Given the description of an element on the screen output the (x, y) to click on. 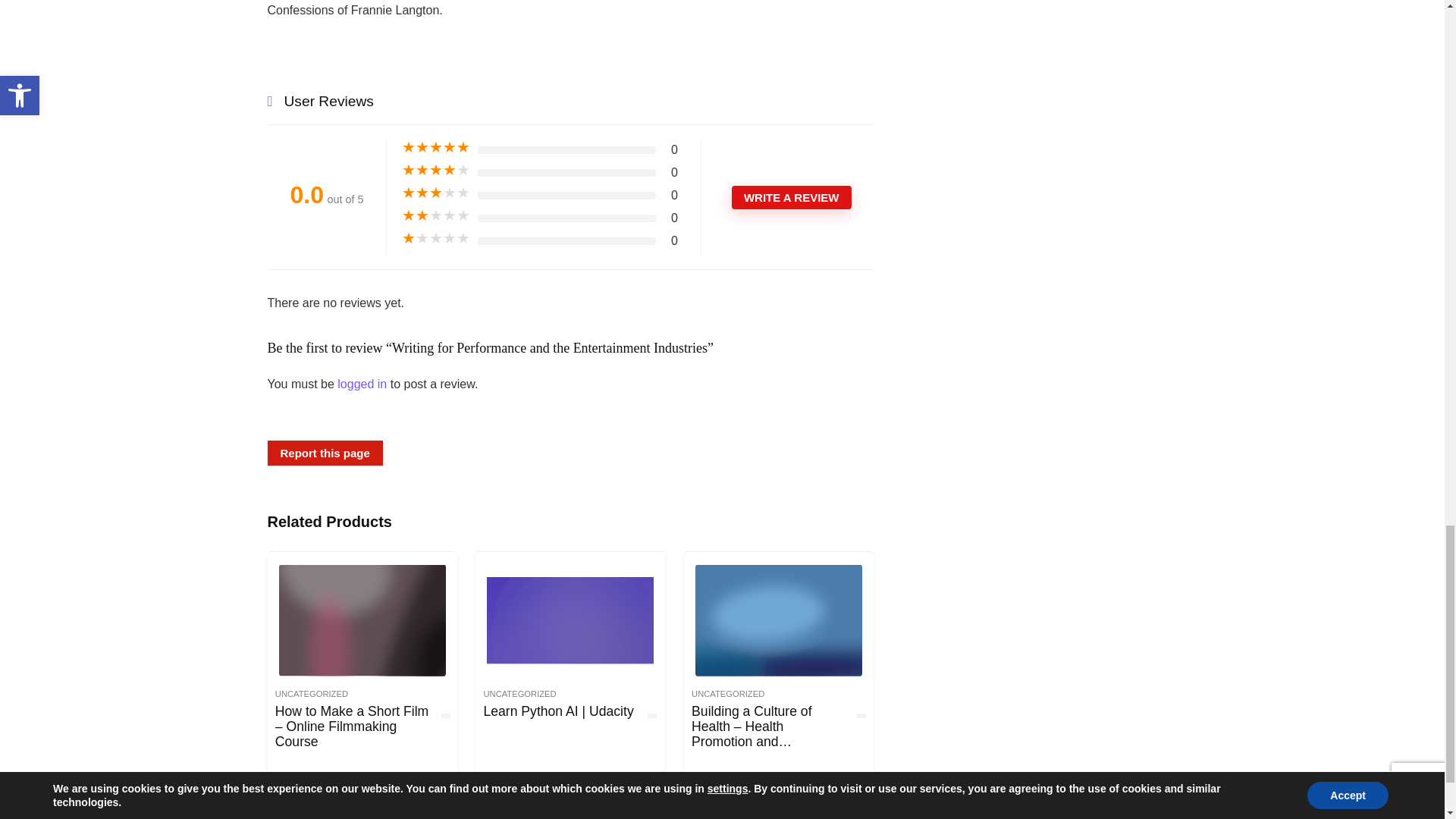
Rated 4 out of 5 (435, 170)
Rated 1 out of 5 (435, 238)
Rated 5 out of 5 (435, 147)
WRITE A REVIEW (791, 197)
Rated 2 out of 5 (435, 215)
Rated 3 out of 5 (435, 192)
